Given the description of an element on the screen output the (x, y) to click on. 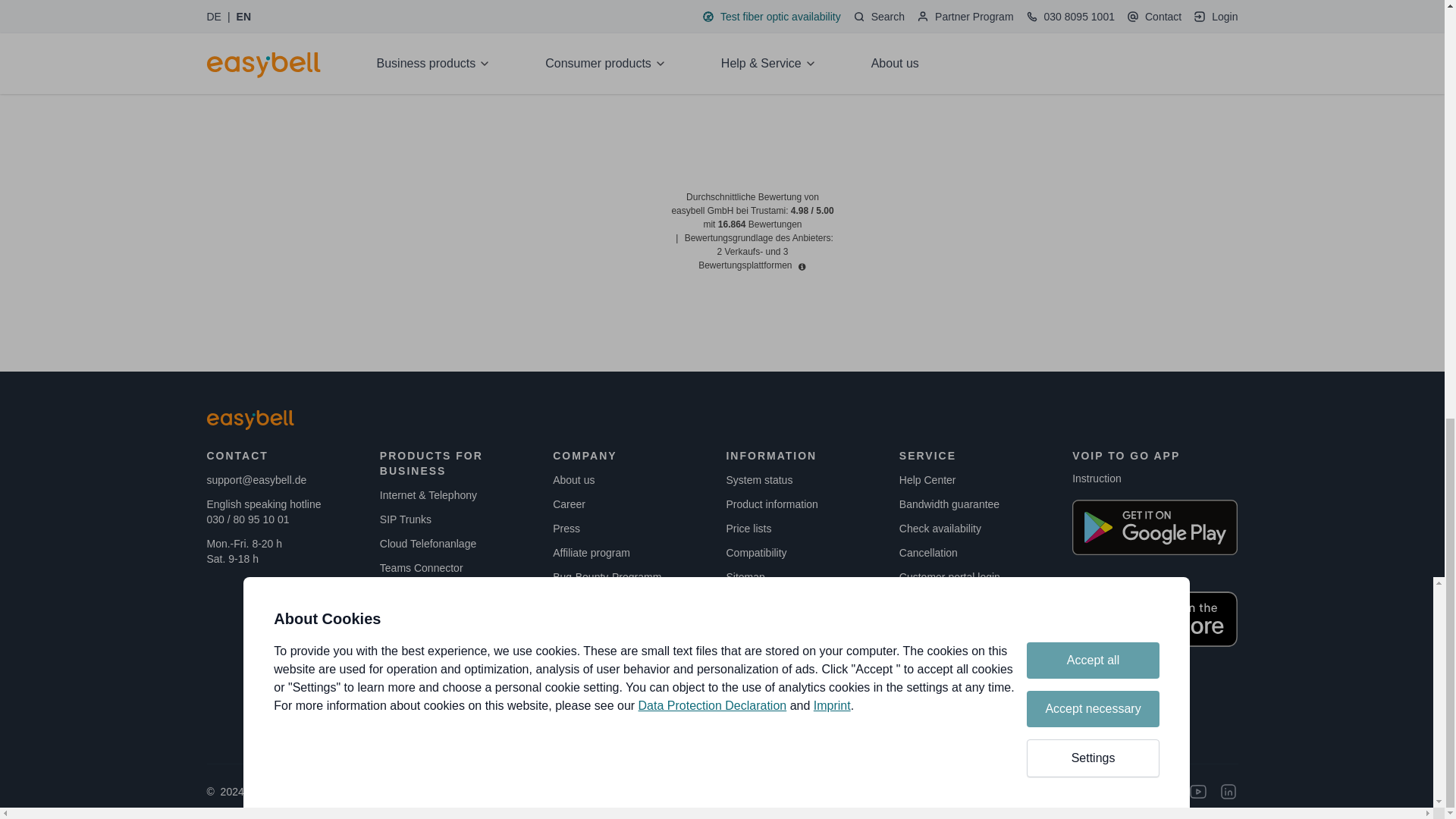
Trustami (759, 128)
